Given the description of an element on the screen output the (x, y) to click on. 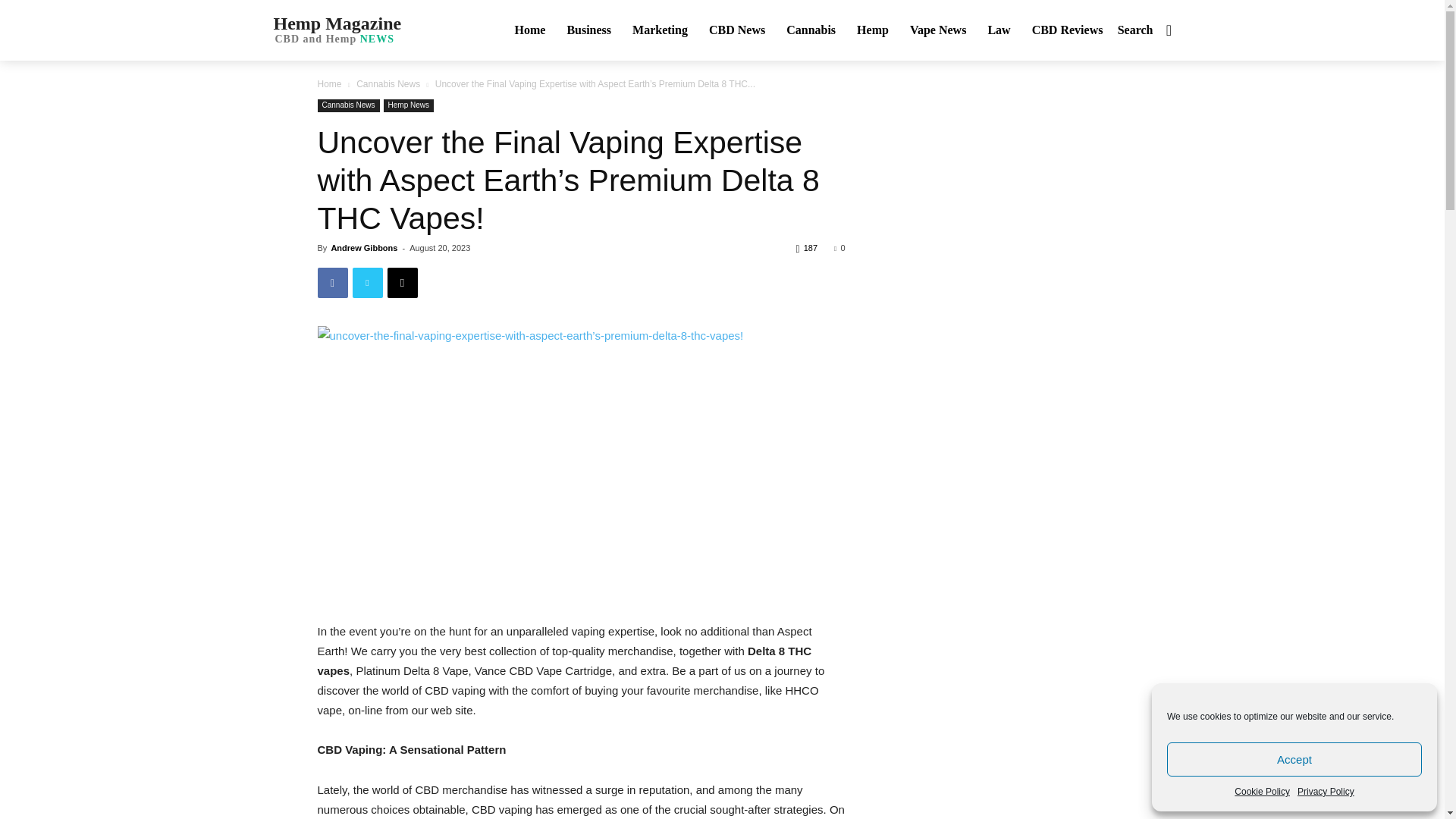
View all posts in Cannabis News (388, 83)
Privacy Policy (333, 28)
Cookie Policy (1325, 791)
Home (1262, 791)
Accept (529, 30)
Search (1294, 759)
Business (1147, 30)
